Given the description of an element on the screen output the (x, y) to click on. 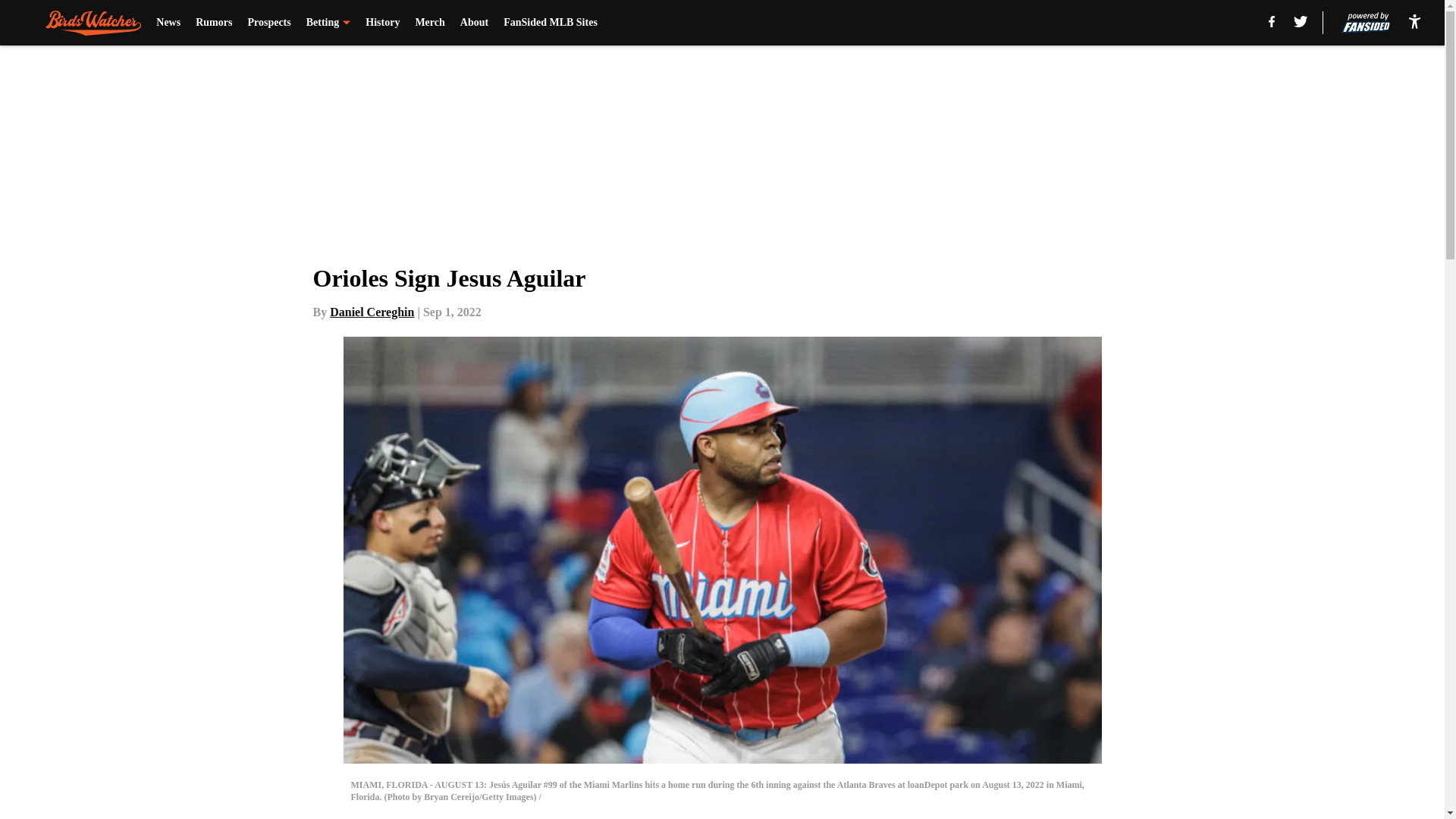
About (473, 22)
Prospects (268, 22)
History (381, 22)
Merch (429, 22)
News (167, 22)
Rumors (213, 22)
FanSided MLB Sites (549, 22)
Daniel Cereghin (371, 311)
